Given the description of an element on the screen output the (x, y) to click on. 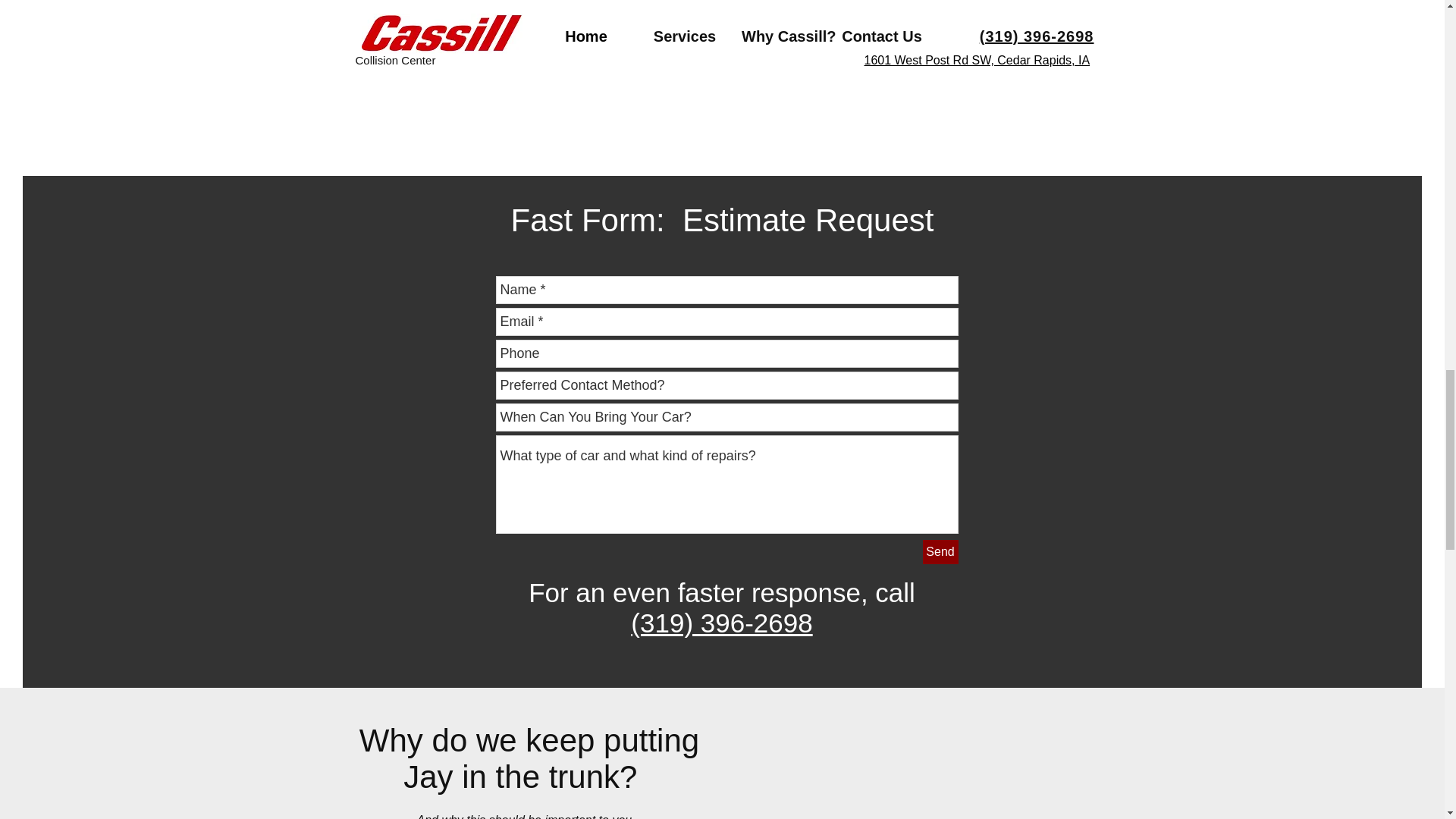
Send (939, 551)
External YouTube (894, 770)
